Given the description of an element on the screen output the (x, y) to click on. 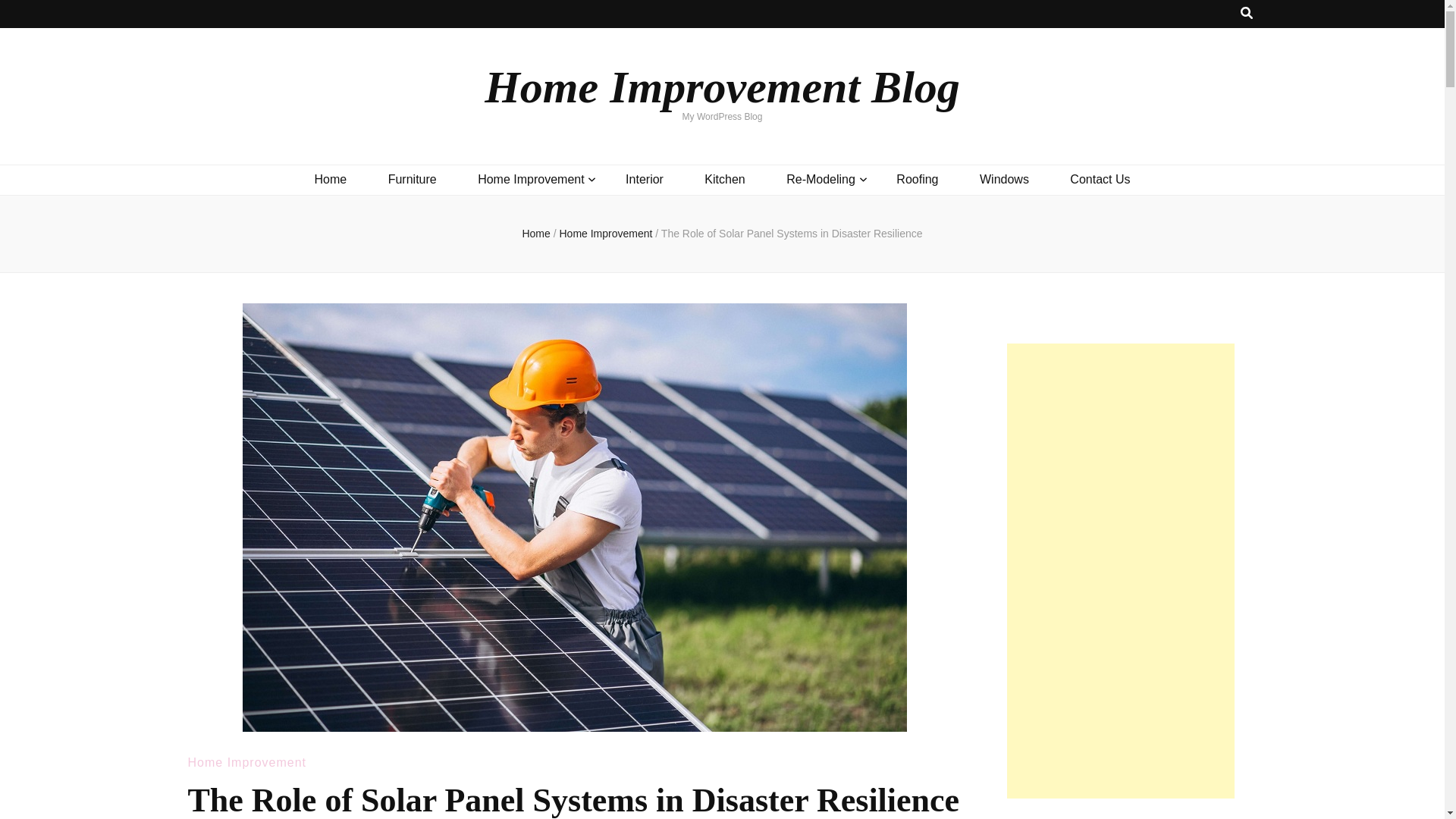
The Role of Solar Panel Systems in Disaster Resilience (792, 233)
Home Improvement Blog (721, 87)
Windows (1004, 179)
Home (535, 233)
Roofing (916, 179)
Home Improvement (531, 179)
Home Improvement (247, 762)
Interior (644, 179)
Re-Modeling (821, 179)
Contact Us (1099, 179)
